Given the description of an element on the screen output the (x, y) to click on. 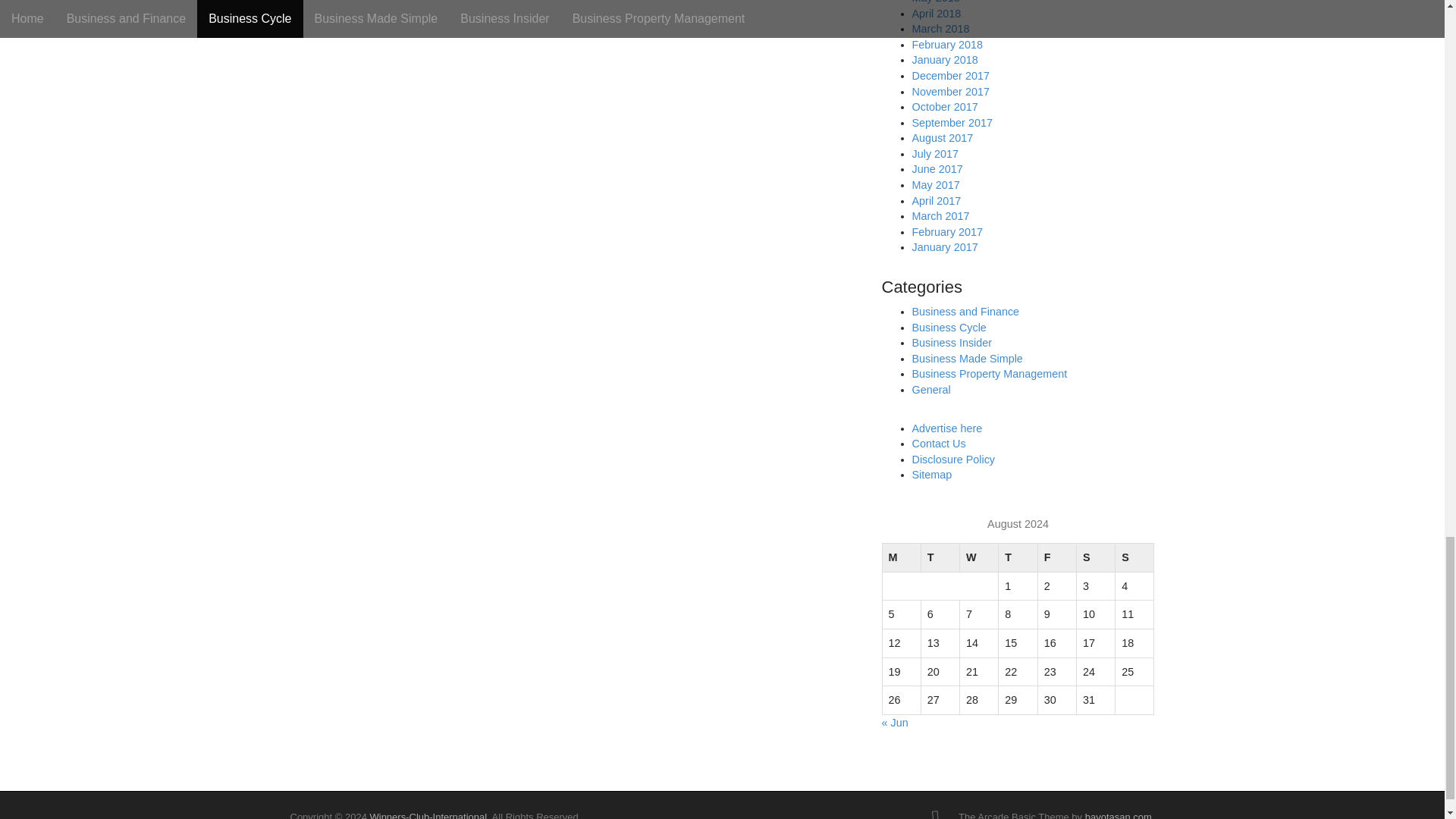
Thursday (1017, 557)
Wednesday (978, 557)
Tuesday (939, 557)
Sunday (1134, 557)
Monday (901, 557)
Friday (1055, 557)
Saturday (1095, 557)
